Given the description of an element on the screen output the (x, y) to click on. 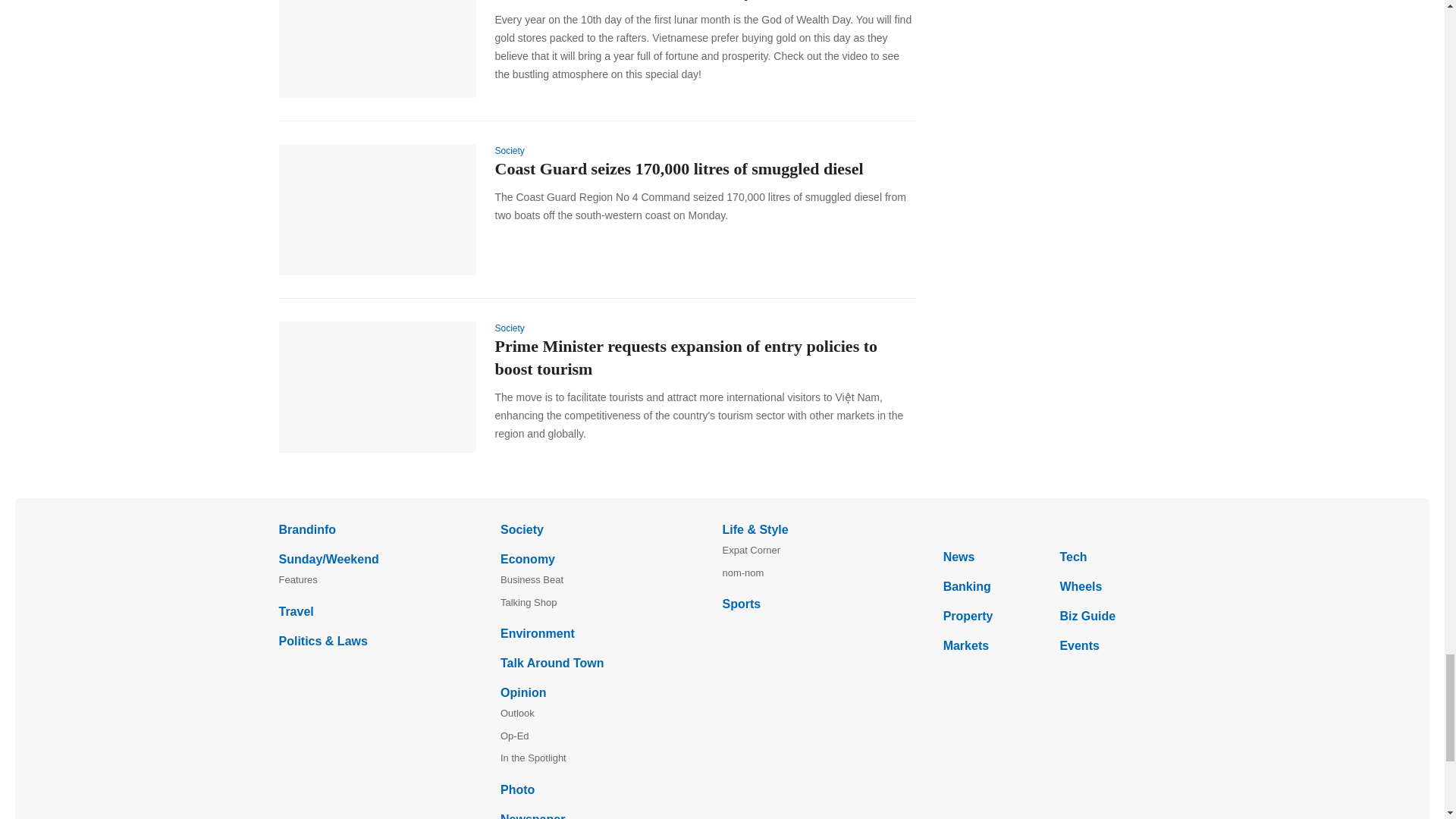
bizhub (1054, 528)
